Given the description of an element on the screen output the (x, y) to click on. 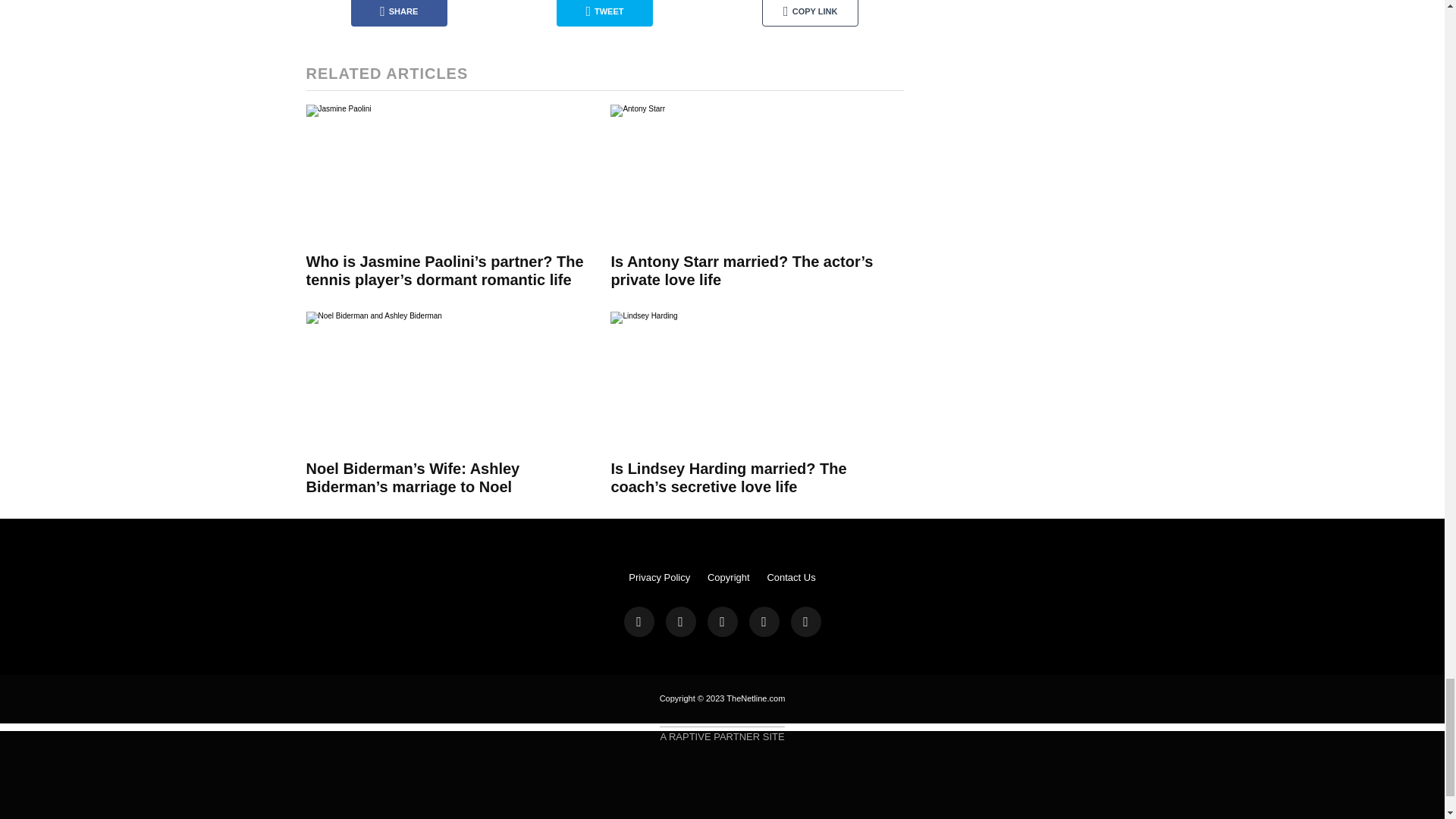
COPY LINK (810, 13)
TWEET (604, 13)
SHARE (398, 13)
